Given the description of an element on the screen output the (x, y) to click on. 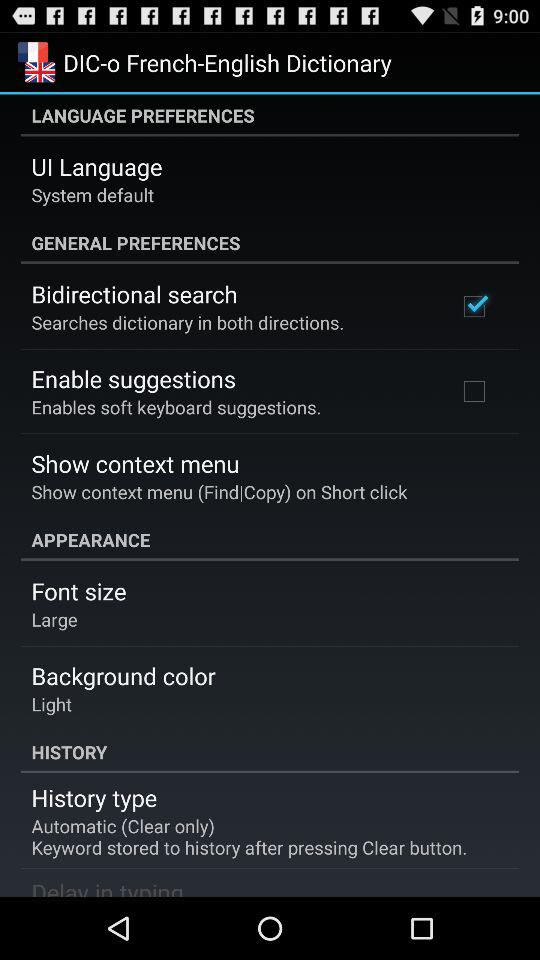
swipe until the language preferences item (270, 115)
